Given the description of an element on the screen output the (x, y) to click on. 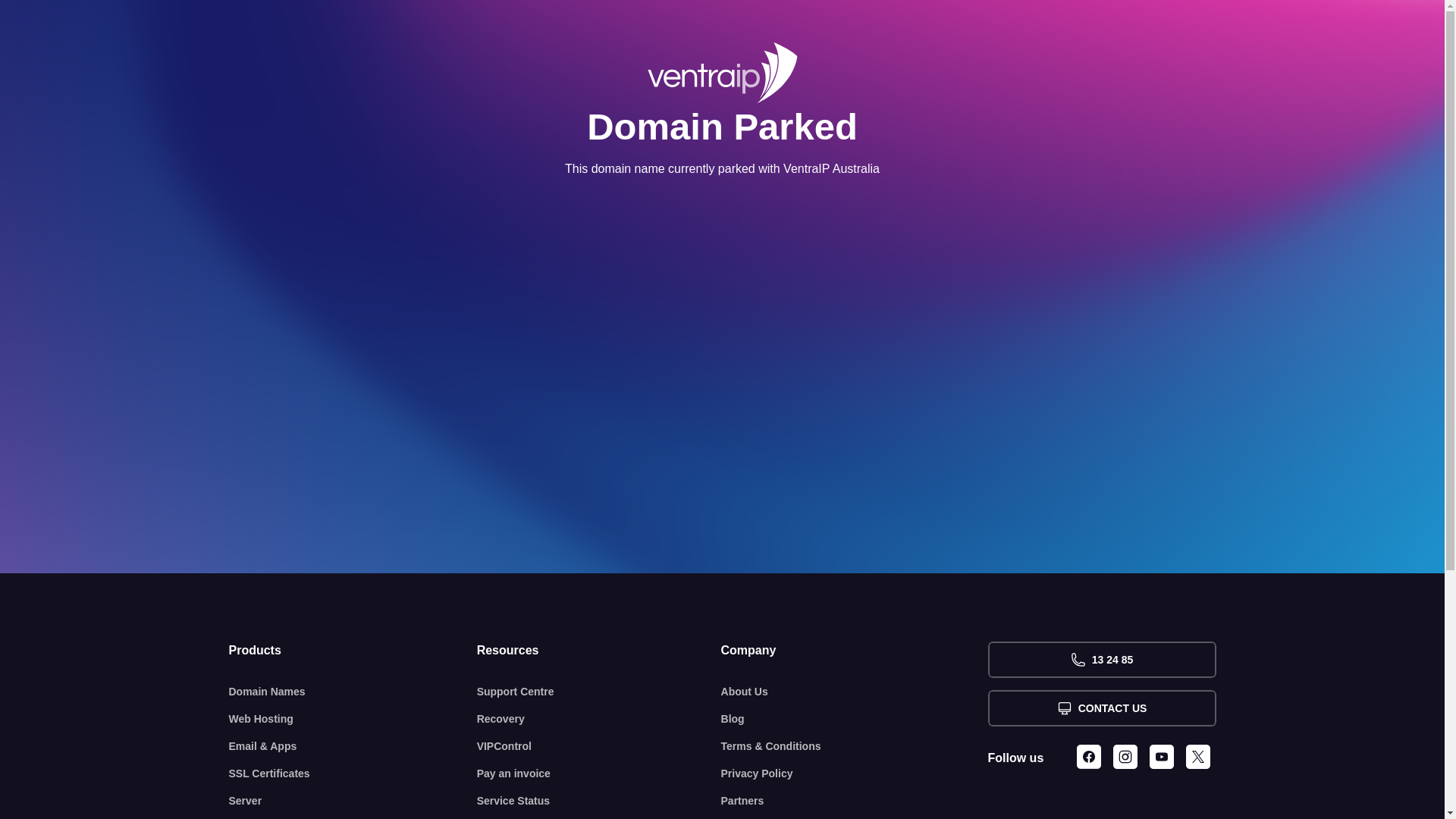
Blog Element type: text (854, 718)
VIPControl Element type: text (598, 745)
Email & Apps Element type: text (352, 745)
Service Status Element type: text (598, 800)
Privacy Policy Element type: text (854, 773)
Domain Names Element type: text (352, 691)
Terms & Conditions Element type: text (854, 745)
SSL Certificates Element type: text (352, 773)
Recovery Element type: text (598, 718)
Web Hosting Element type: text (352, 718)
Server Element type: text (352, 800)
Partners Element type: text (854, 800)
About Us Element type: text (854, 691)
Support Centre Element type: text (598, 691)
CONTACT US Element type: text (1101, 708)
13 24 85 Element type: text (1101, 659)
Pay an invoice Element type: text (598, 773)
